Given the description of an element on the screen output the (x, y) to click on. 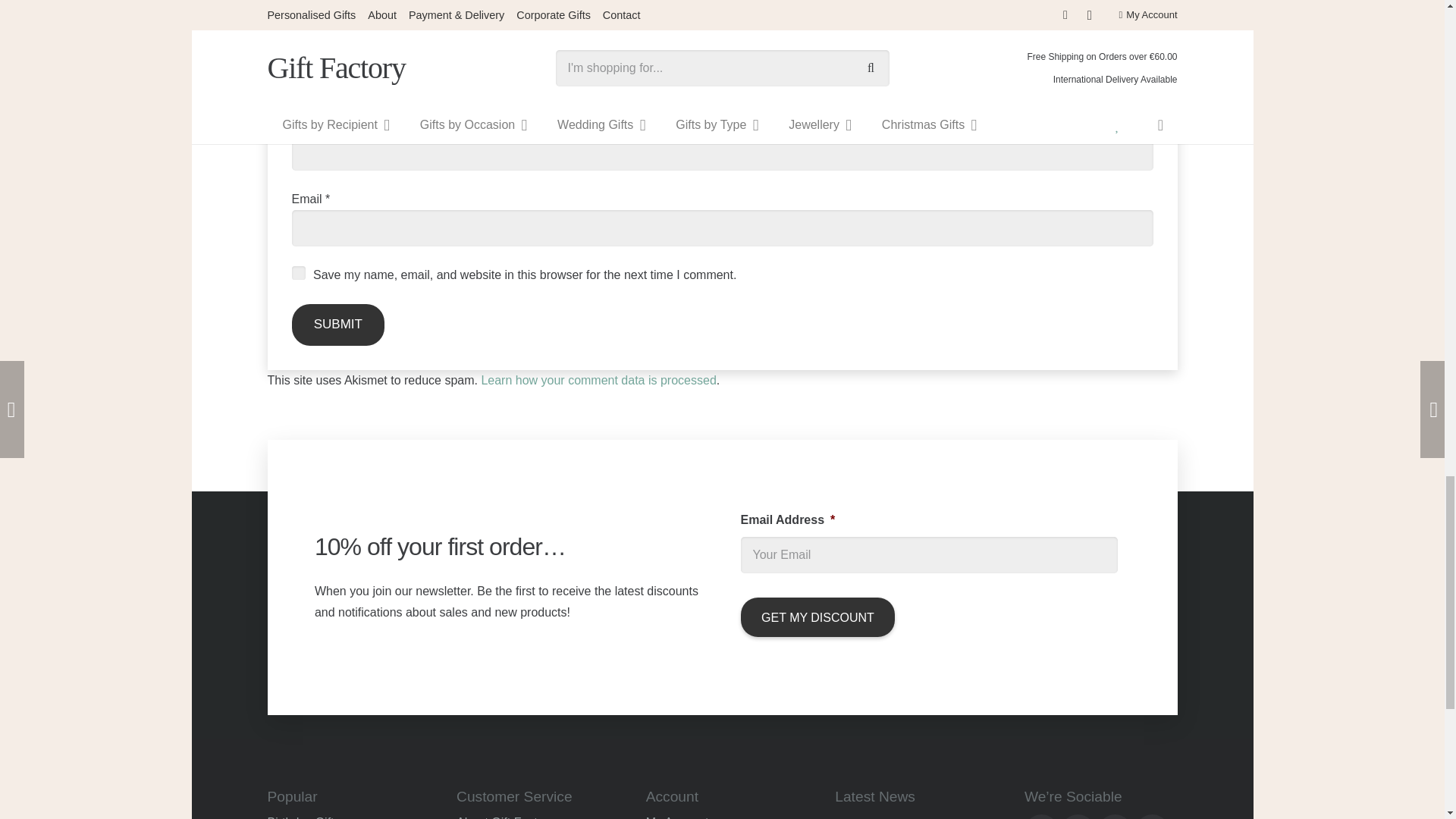
yes (297, 273)
Get My Discount (817, 617)
Submit (337, 324)
